Given the description of an element on the screen output the (x, y) to click on. 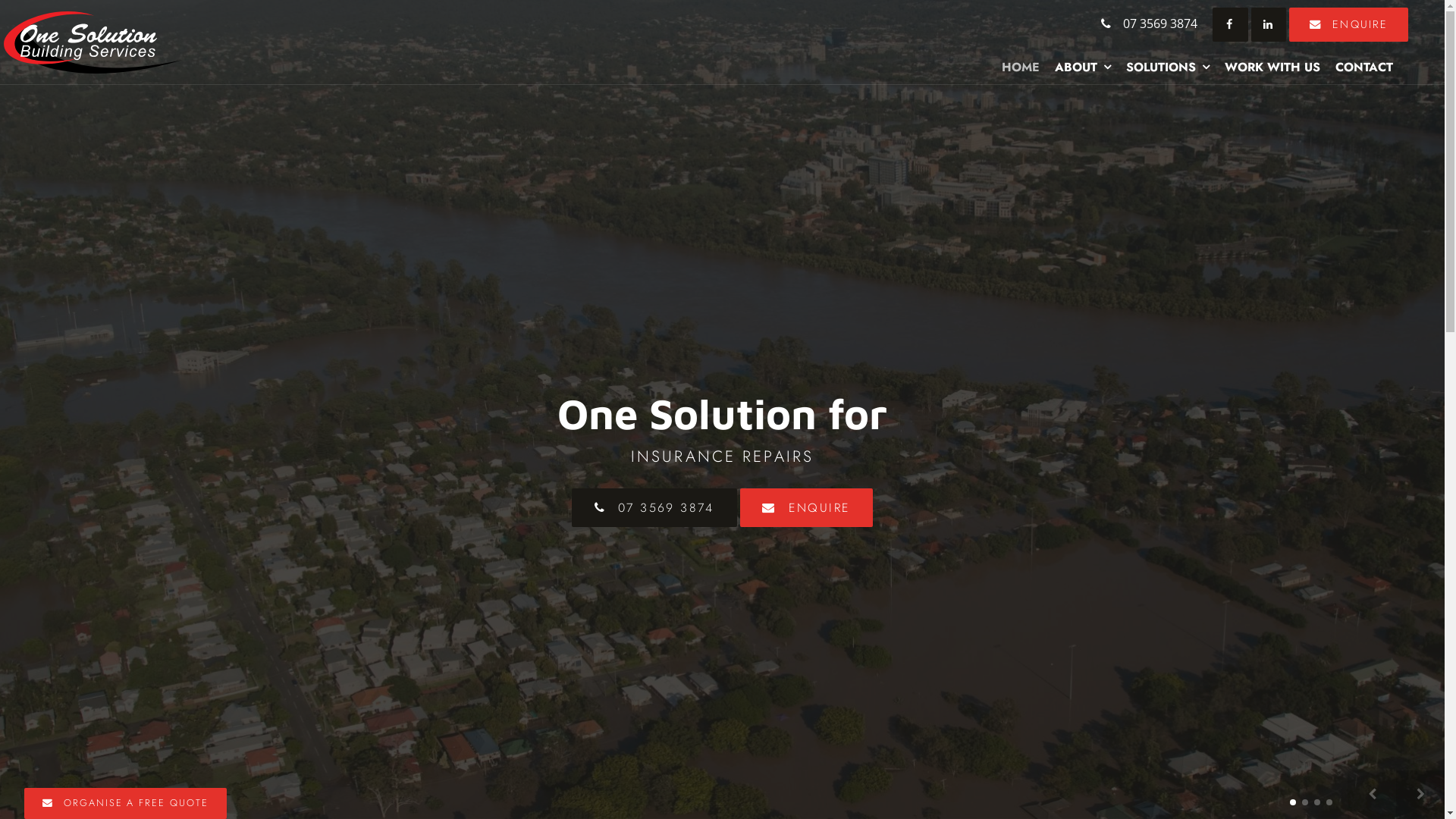
WORK WITH US Element type: text (1272, 67)
ENQUIRE Element type: text (1348, 24)
HOME Element type: text (1020, 67)
ABOUT Element type: text (1082, 67)
CONTACT Element type: text (1363, 67)
SOLUTIONS Element type: text (1167, 67)
07 3569 3874 Element type: text (653, 507)
ENQUIRE Element type: text (806, 507)
